Given the description of an element on the screen output the (x, y) to click on. 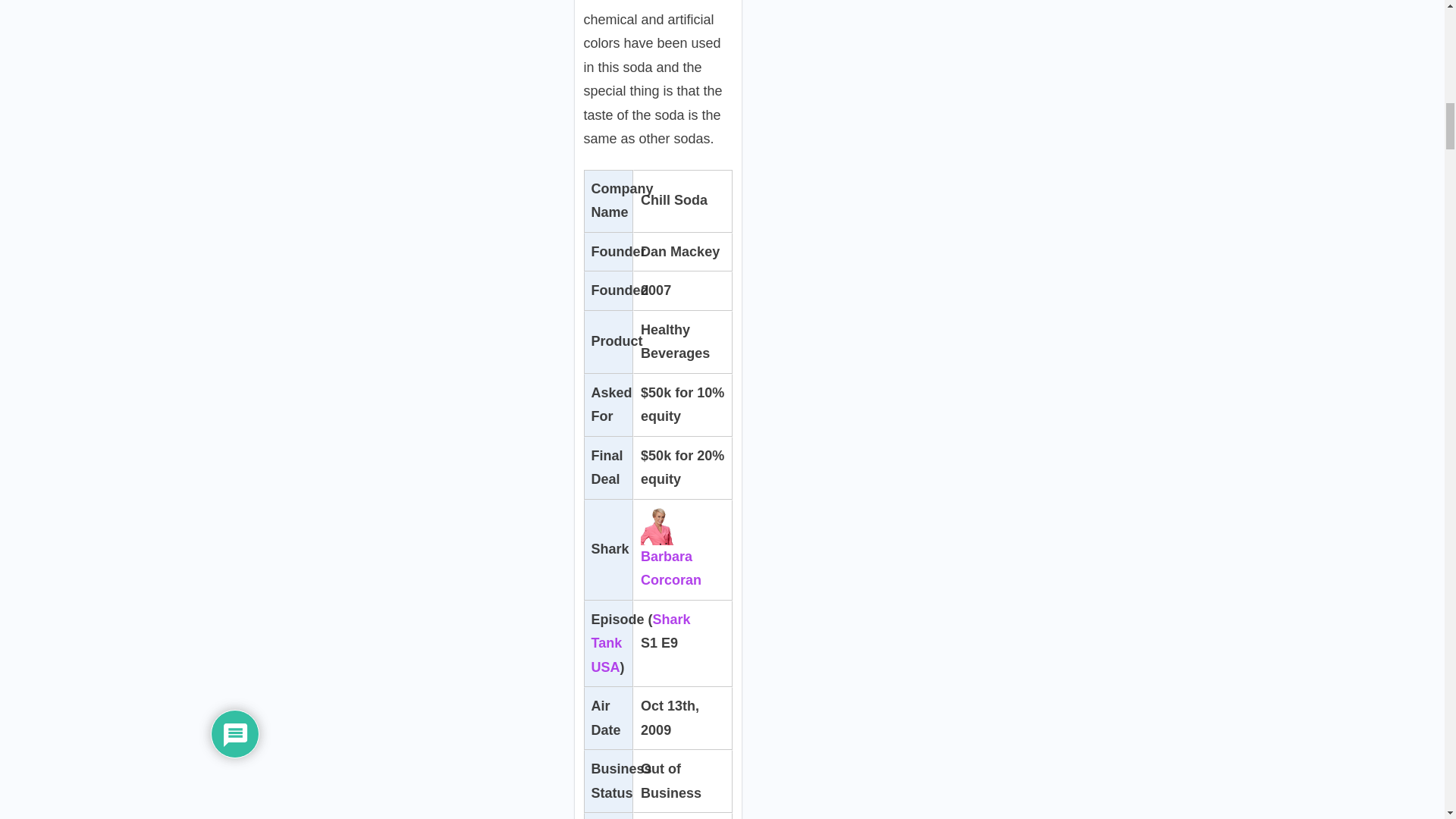
Barbara Corcoran (670, 552)
Shark Tank USA (640, 642)
